Given the description of an element on the screen output the (x, y) to click on. 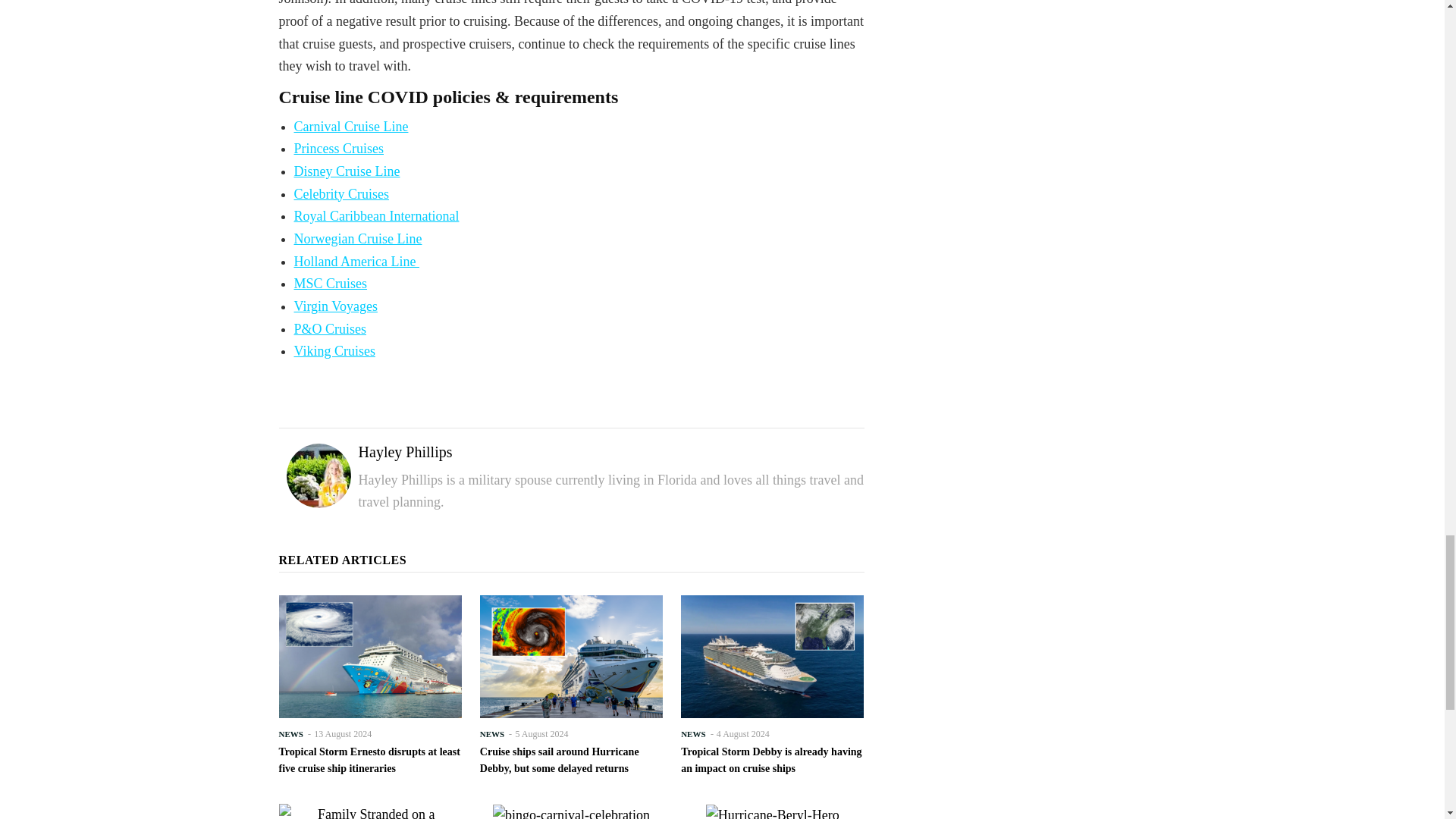
NEWS (491, 733)
Virgin Voyages (335, 305)
Princess Cruises (339, 148)
NEWS (290, 733)
Carnival Cruise Line (351, 126)
Royal Caribbean International (377, 215)
MSC Cruises (331, 283)
Norwegian Cruise Line (358, 238)
Viking Cruises (334, 350)
